Given the description of an element on the screen output the (x, y) to click on. 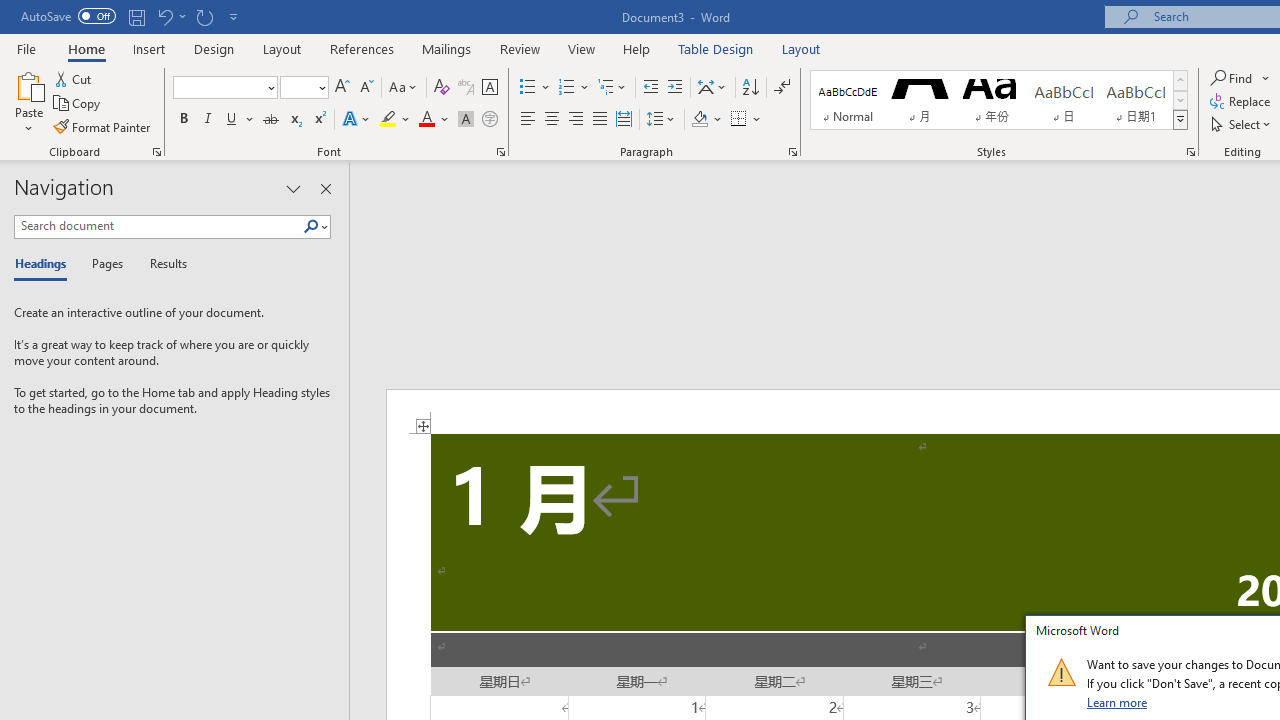
Replace... (1242, 101)
Learn more (1118, 702)
